Given the description of an element on the screen output the (x, y) to click on. 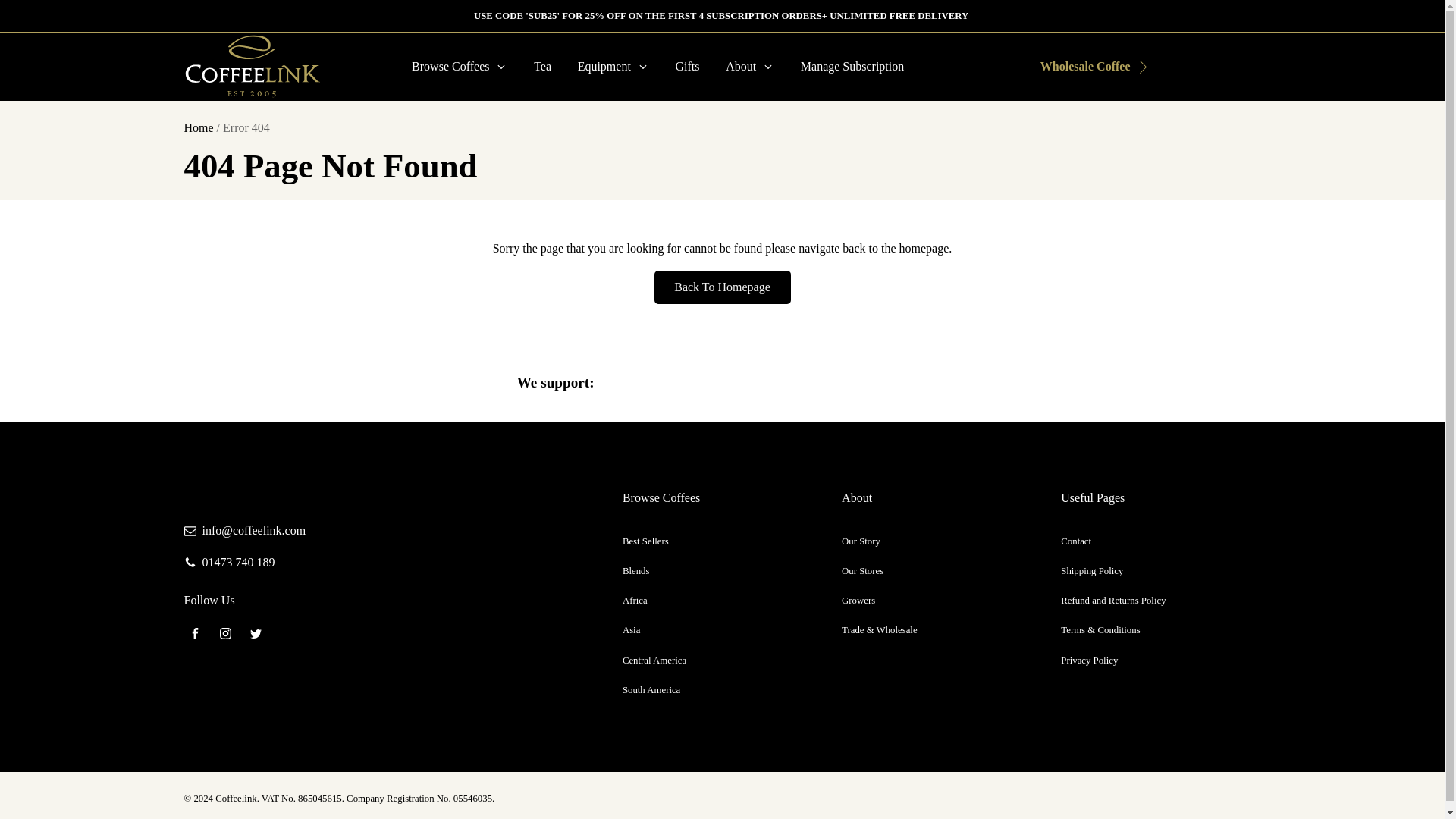
About (750, 66)
Browse Coffees (459, 66)
Wholesale Coffee (1082, 66)
Gifts (687, 66)
Equipment (613, 66)
Tea (542, 66)
Manage Subscription (852, 66)
